Given the description of an element on the screen output the (x, y) to click on. 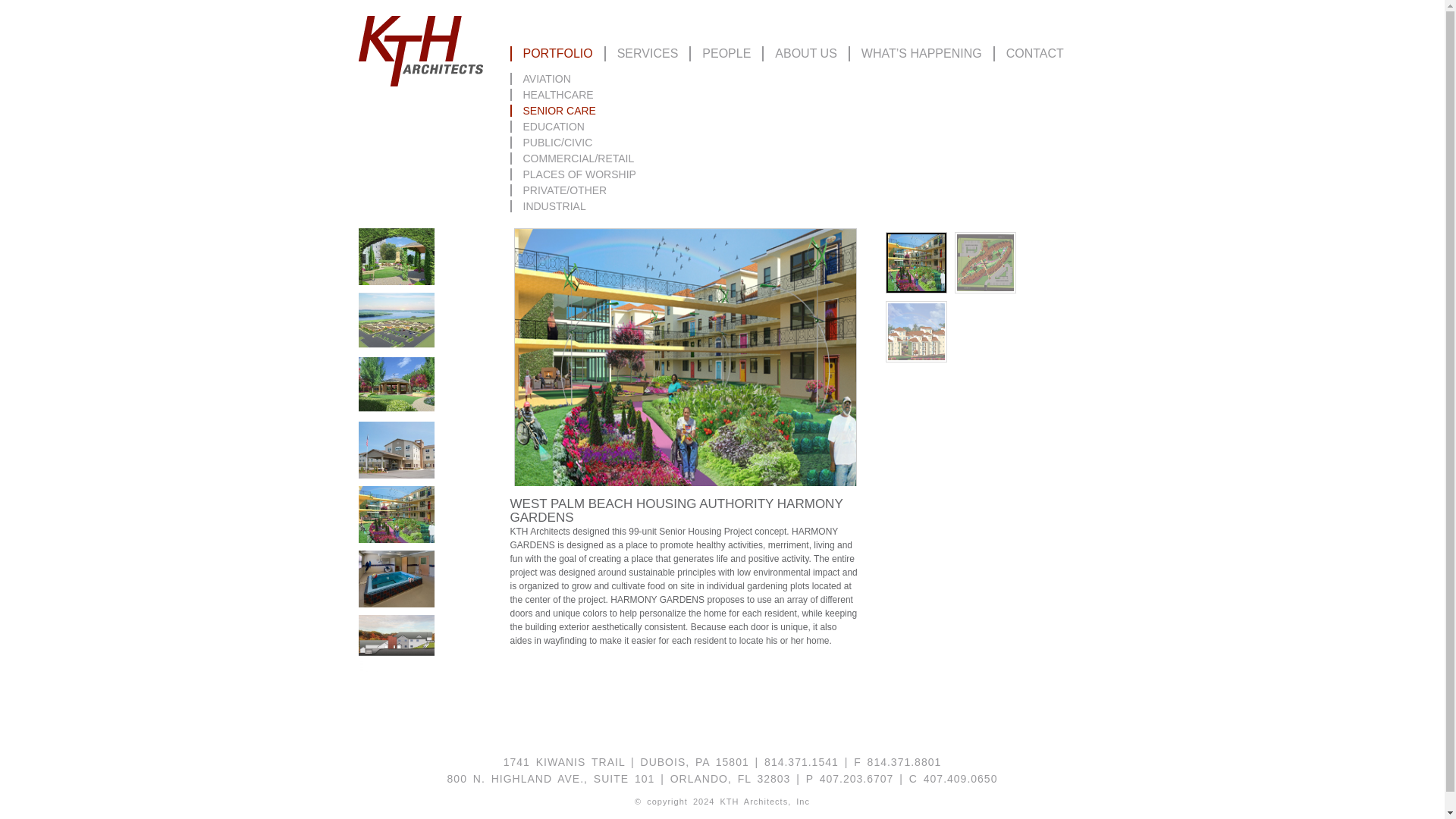
KTH Architects, Inc (420, 52)
AVIATION (544, 78)
PORTFOLIO (556, 53)
HEALTHCARE (556, 94)
PEOPLE (724, 53)
SERVICES (647, 53)
ABOUT US (804, 53)
SENIOR CARE (558, 110)
INDUSTRIAL (552, 205)
PLACES OF WORSHIP (577, 174)
EDUCATION (552, 126)
